Given the description of an element on the screen output the (x, y) to click on. 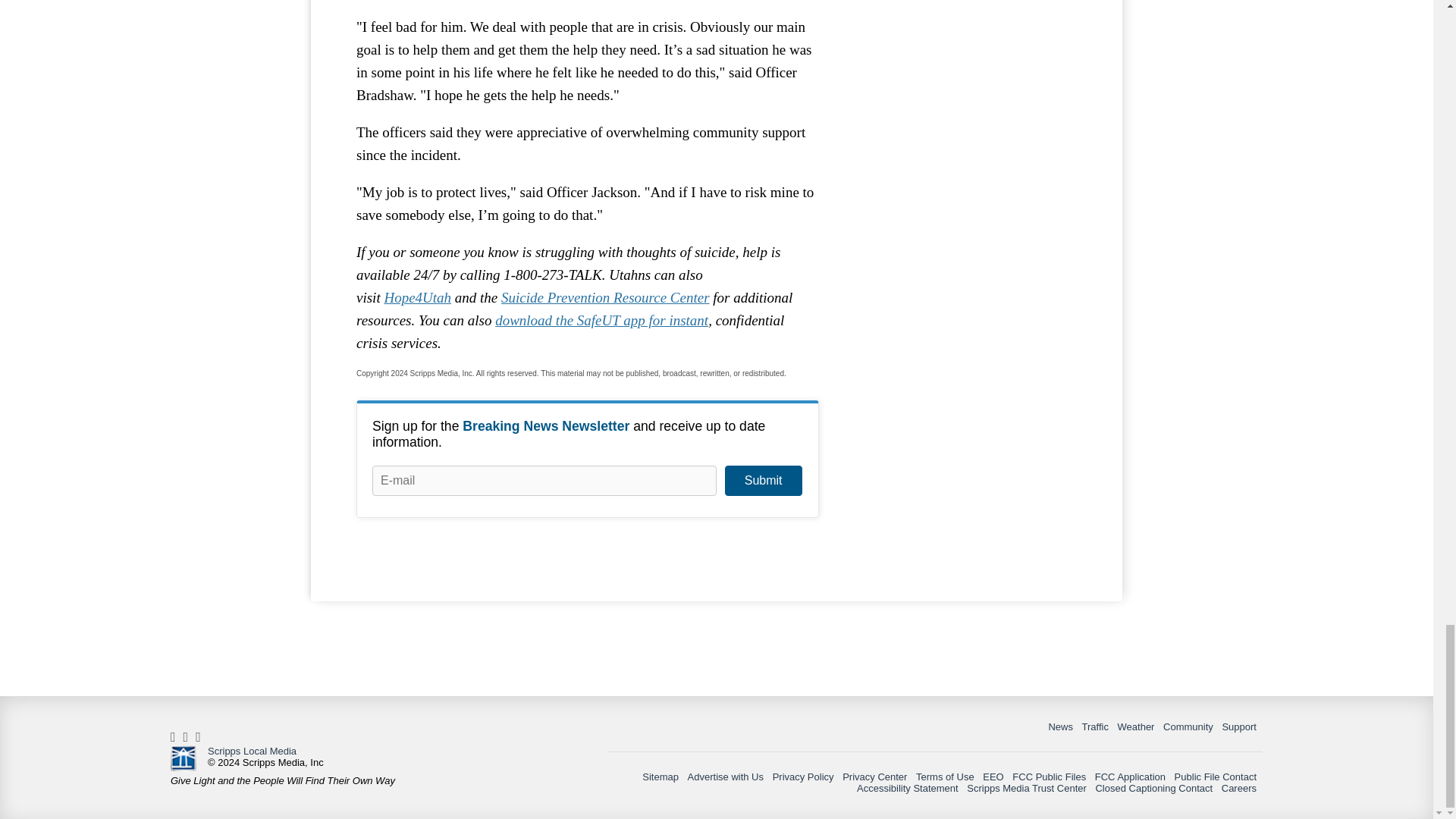
Submit (763, 481)
